Given the description of an element on the screen output the (x, y) to click on. 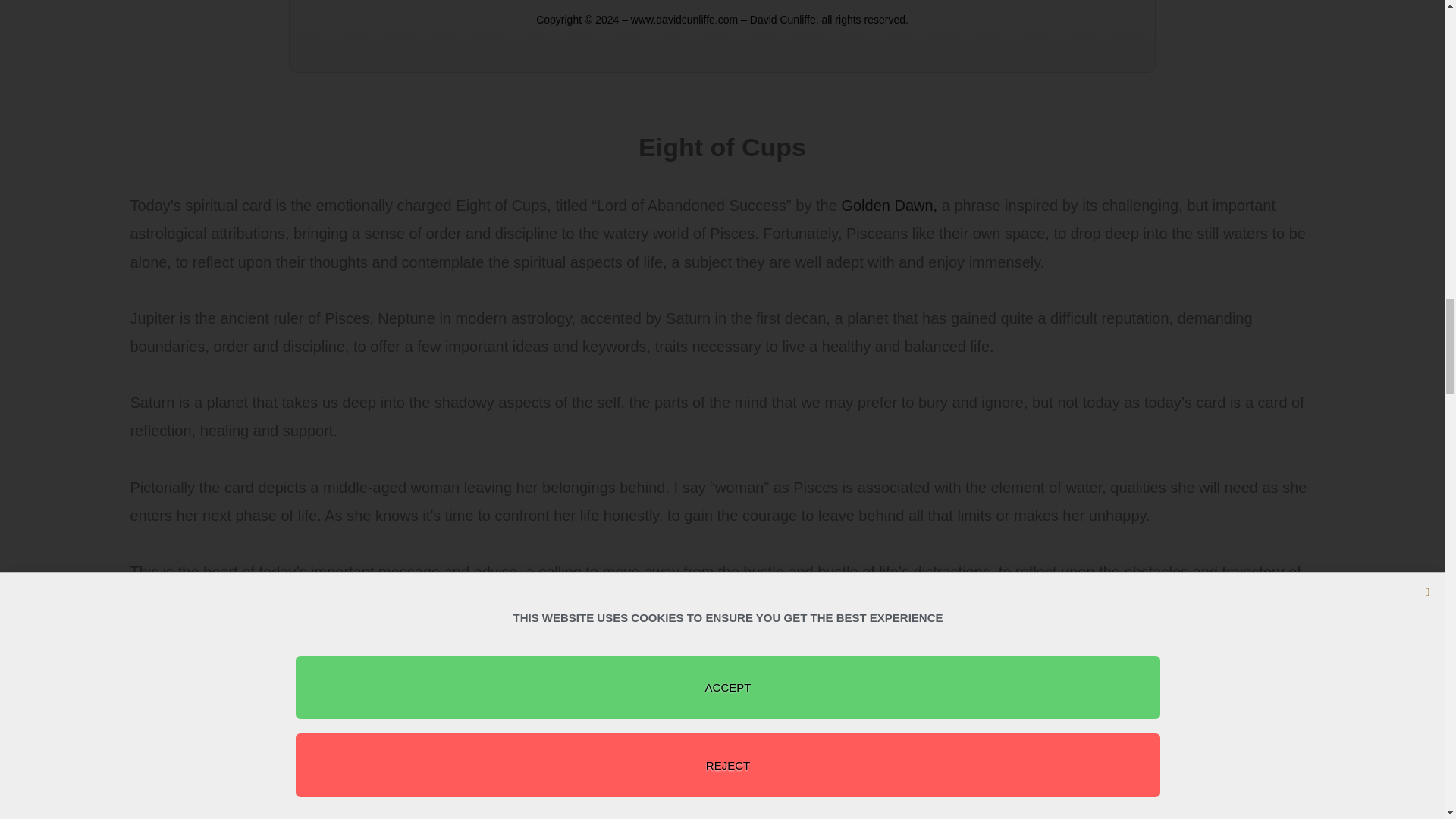
ALTERNATIVE VERSIONS (722, 775)
Golden Dawn (887, 205)
